Given the description of an element on the screen output the (x, y) to click on. 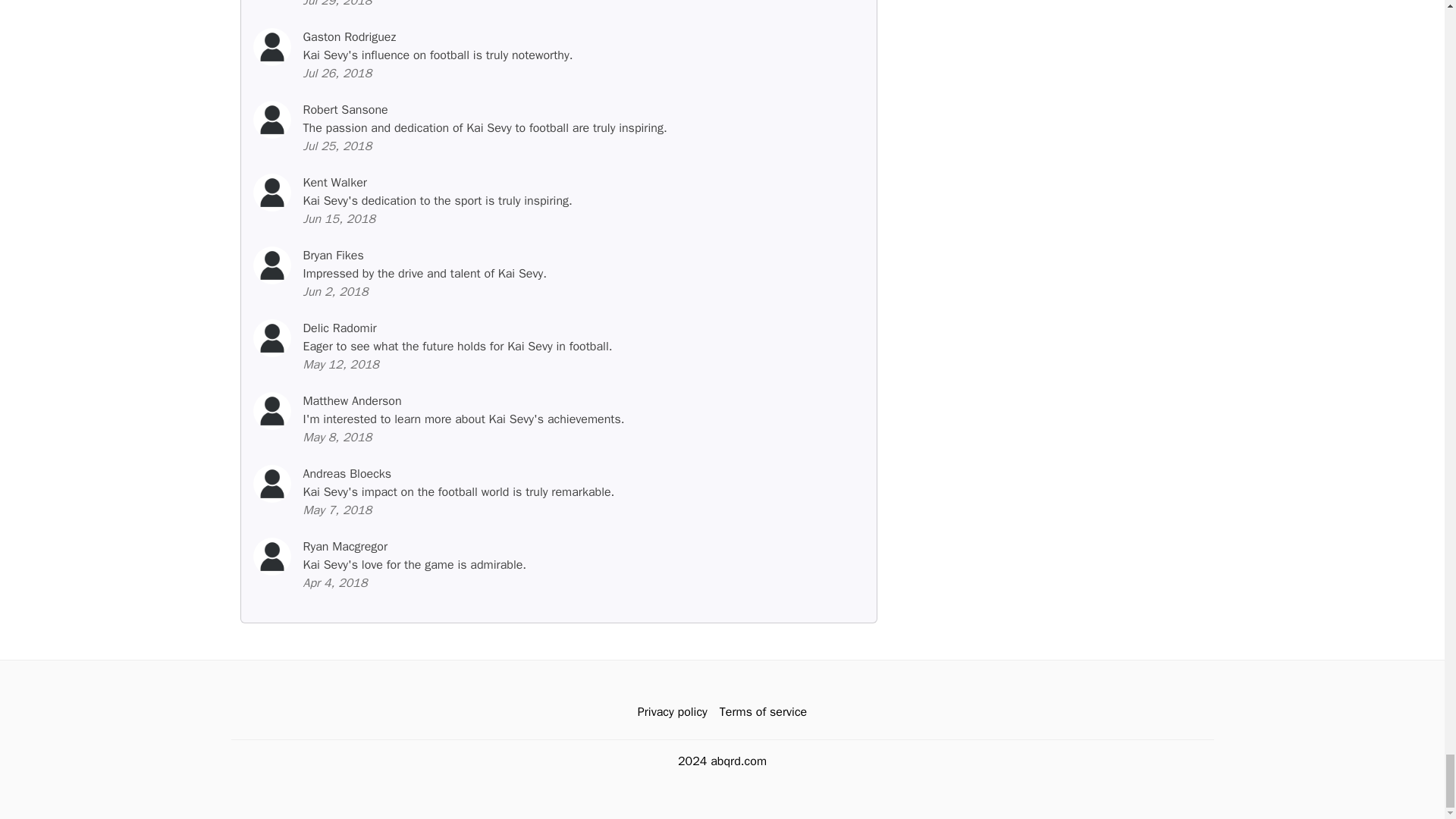
Privacy policy (672, 711)
Terms of service (762, 711)
